Given the description of an element on the screen output the (x, y) to click on. 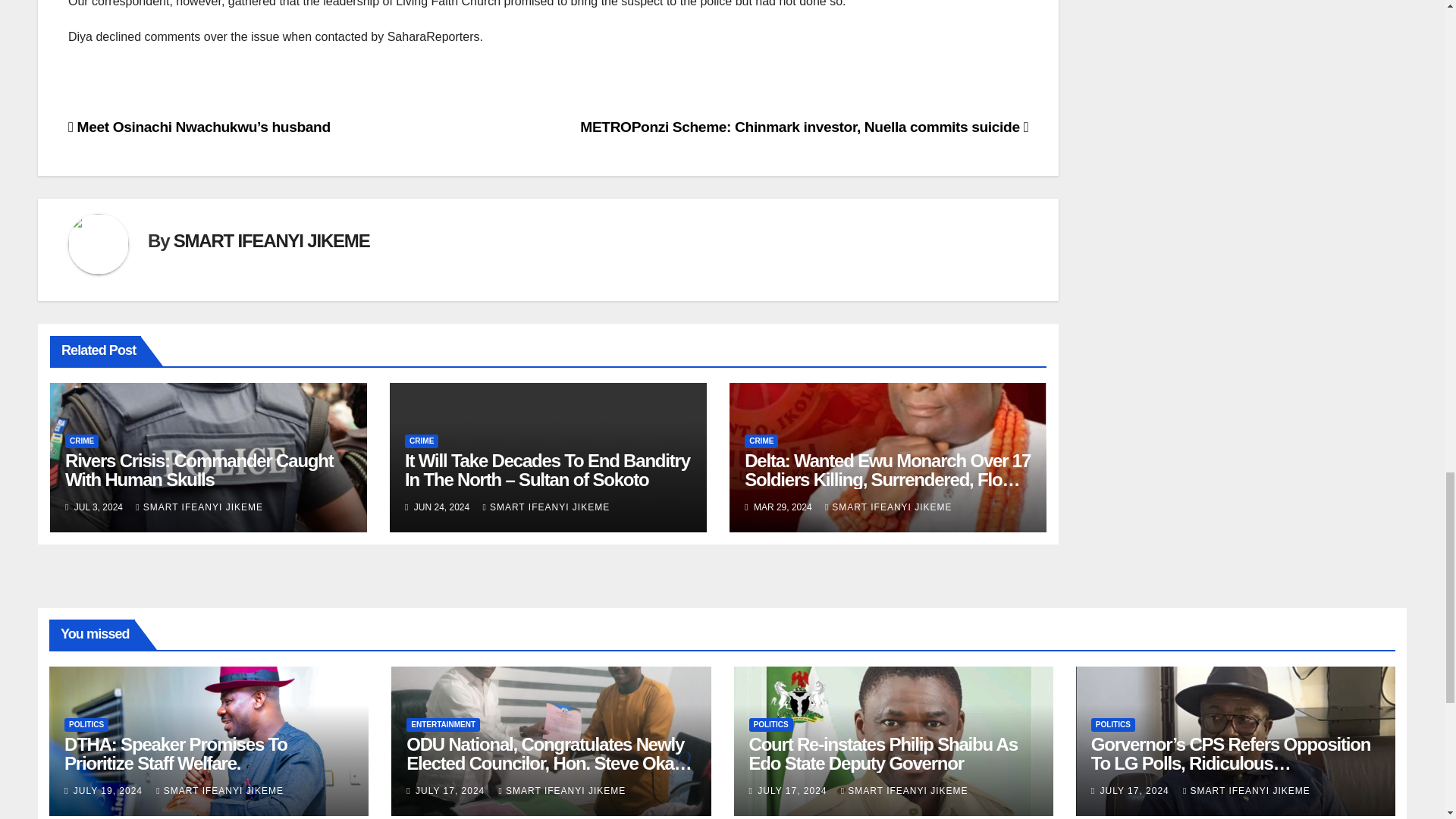
SMART IFEANYI JIKEME (199, 507)
SMART IFEANYI JIKEME (546, 507)
POLITICS (85, 725)
Rivers Crisis: Commander Caught With Human Skulls (199, 469)
CRIME (82, 440)
SMART IFEANYI JIKEME (888, 507)
CRIME (760, 440)
SMART IFEANYI JIKEME (271, 240)
METROPonzi Scheme: Chinmark investor, Nuella commits suicide (803, 126)
CRIME (421, 440)
